Given the description of an element on the screen output the (x, y) to click on. 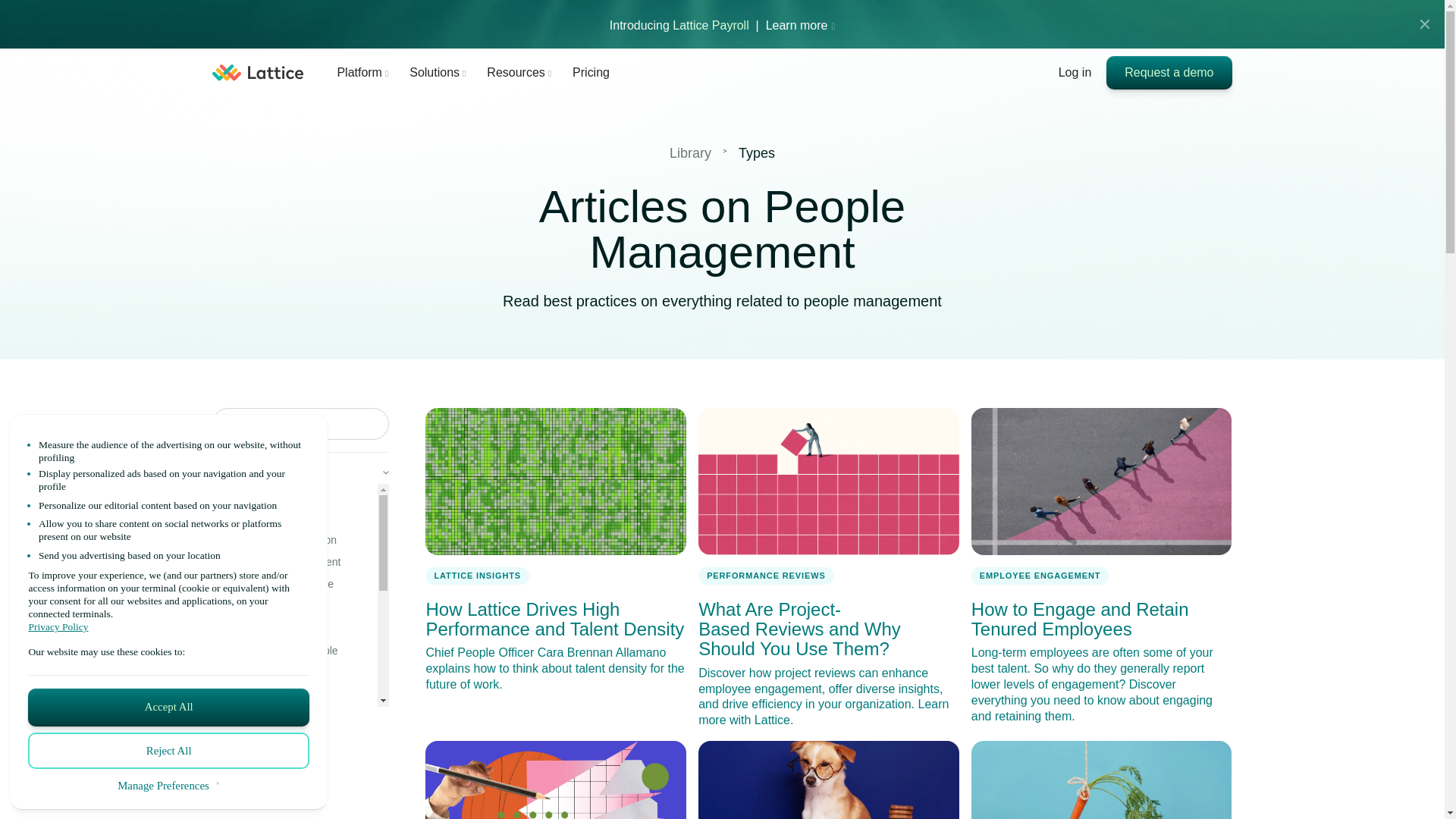
Manage Preferences (167, 785)
Reject All (167, 750)
Accept All (167, 707)
Privacy Policy (167, 626)
